Given the description of an element on the screen output the (x, y) to click on. 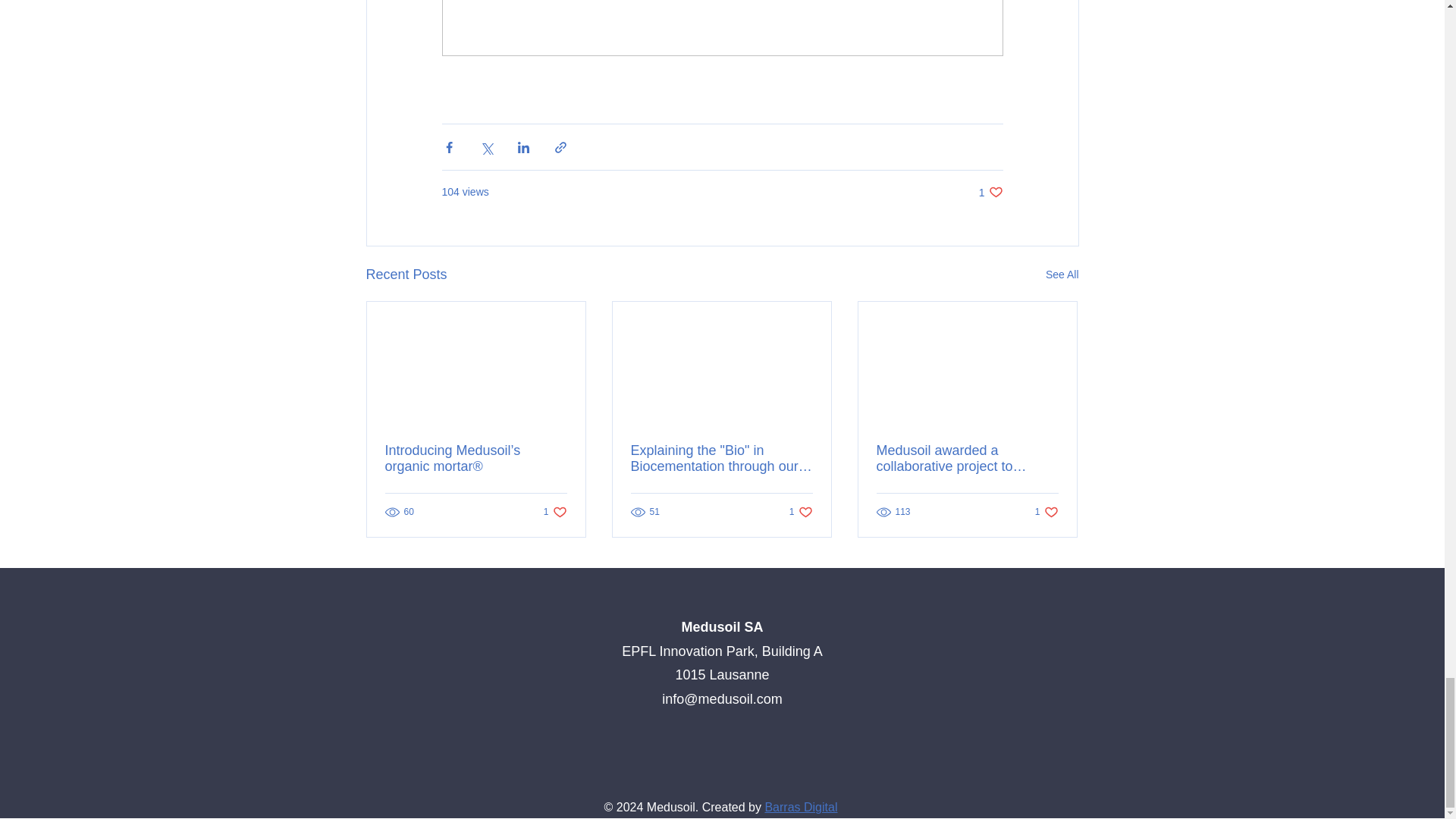
See All (555, 512)
